Given the description of an element on the screen output the (x, y) to click on. 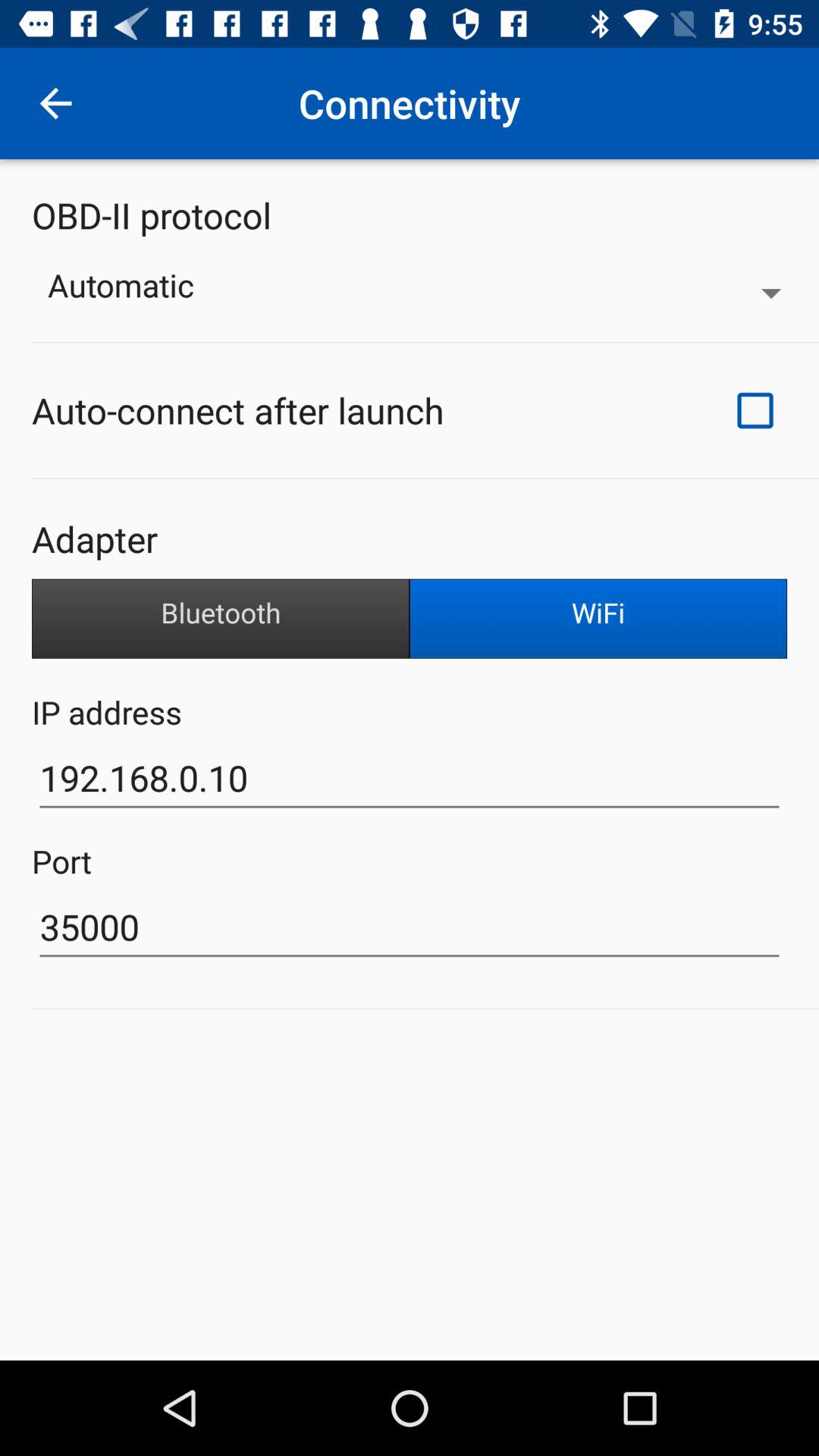
jump to the wifi (598, 618)
